Given the description of an element on the screen output the (x, y) to click on. 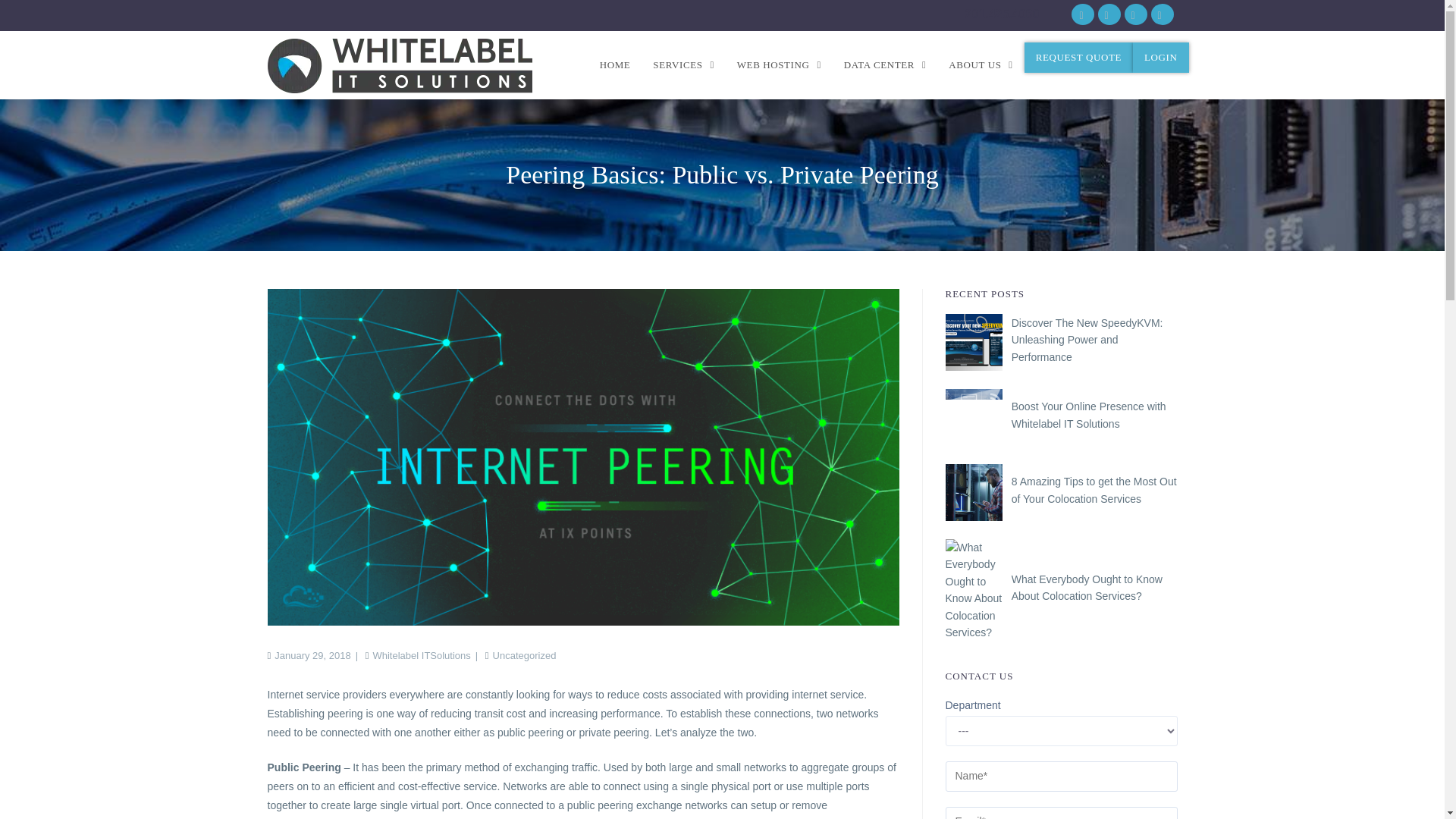
Facebook (1081, 14)
Twitter (1105, 14)
Instagram (1133, 14)
Posts by Whitelabel ITSolutions (421, 655)
Discover The New SpeedyKVM: Unleashing Power and Performance (1087, 339)
HOME (615, 65)
DATA CENTER (884, 65)
SERVICES (683, 65)
Boost Your Online Presence with Whitelabel IT Solutions (1088, 414)
Discover The New SpeedyKVM: Unleashing Power and Performance (972, 342)
Boost Your Online Presence with Whitelabel IT Solutions (972, 417)
LinkedIn (1156, 14)
WEB HOSTING (778, 65)
